Given the description of an element on the screen output the (x, y) to click on. 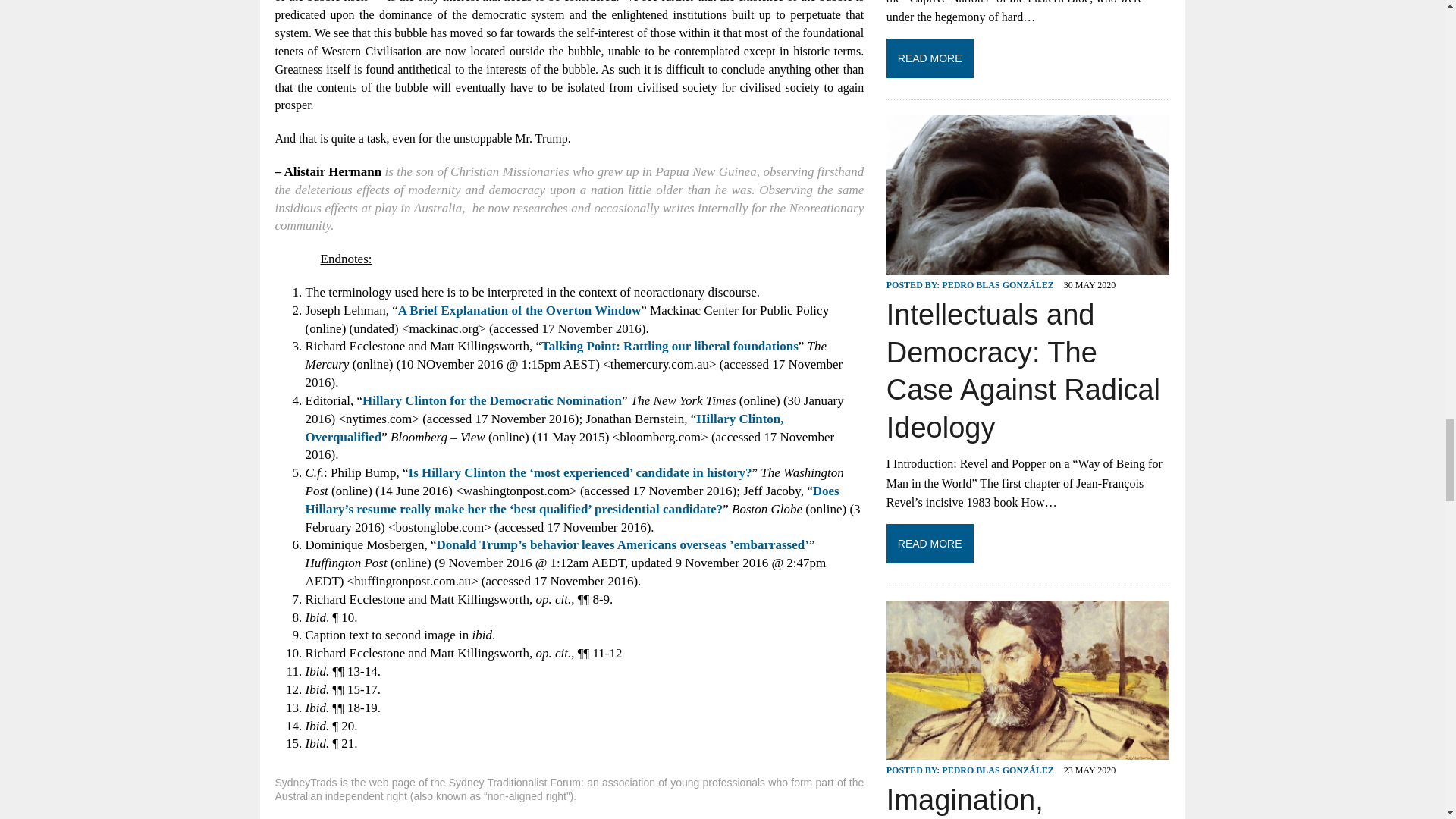
Hillary Clinton for the Democratic Nomination (491, 400)
Hillary Clinton, Overqualified (543, 427)
A Brief Explanation of the Overton Window (519, 310)
Talking Point: Rattling our liberal foundations (669, 345)
